Given the description of an element on the screen output the (x, y) to click on. 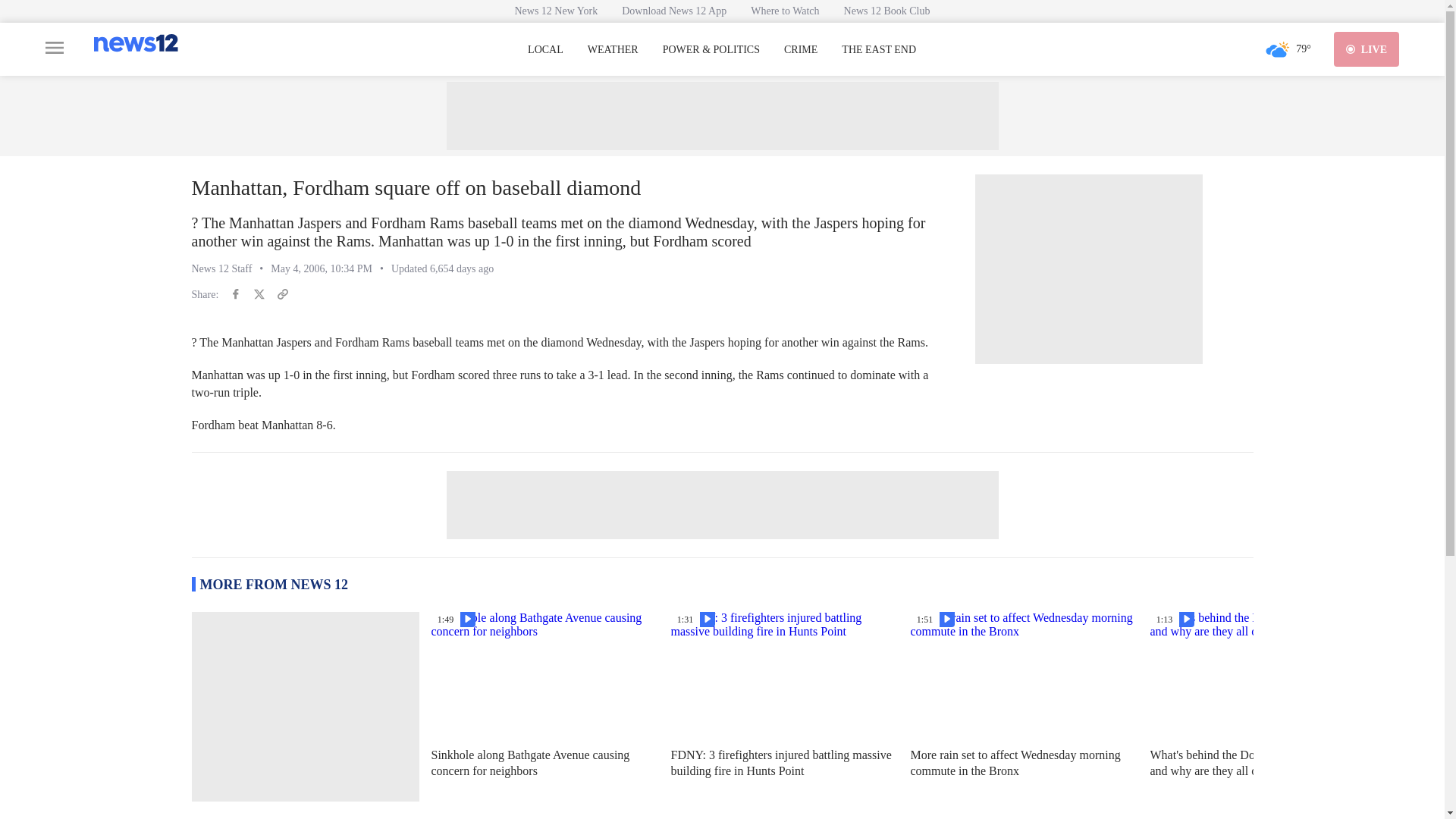
News 12 New York (556, 11)
CRIME (800, 49)
Download News 12 App (673, 11)
Where to Watch (784, 11)
LOCAL (545, 49)
LIVE (1366, 48)
Mostly Cloudy (1277, 48)
News 12 Book Club (886, 11)
THE EAST END (878, 49)
WEATHER (613, 49)
